Given the description of an element on the screen output the (x, y) to click on. 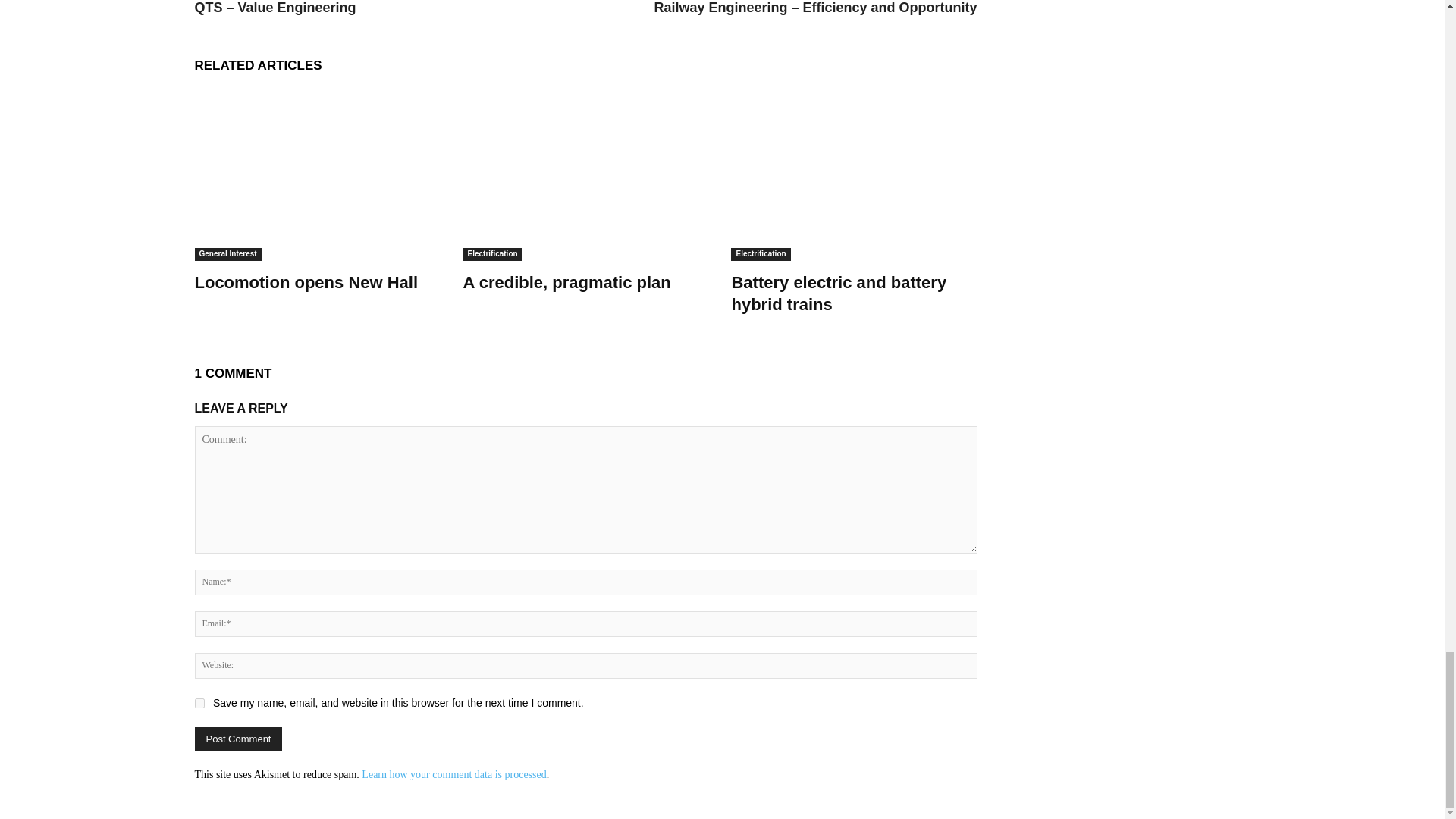
Post Comment (237, 739)
yes (198, 703)
